Given the description of an element on the screen output the (x, y) to click on. 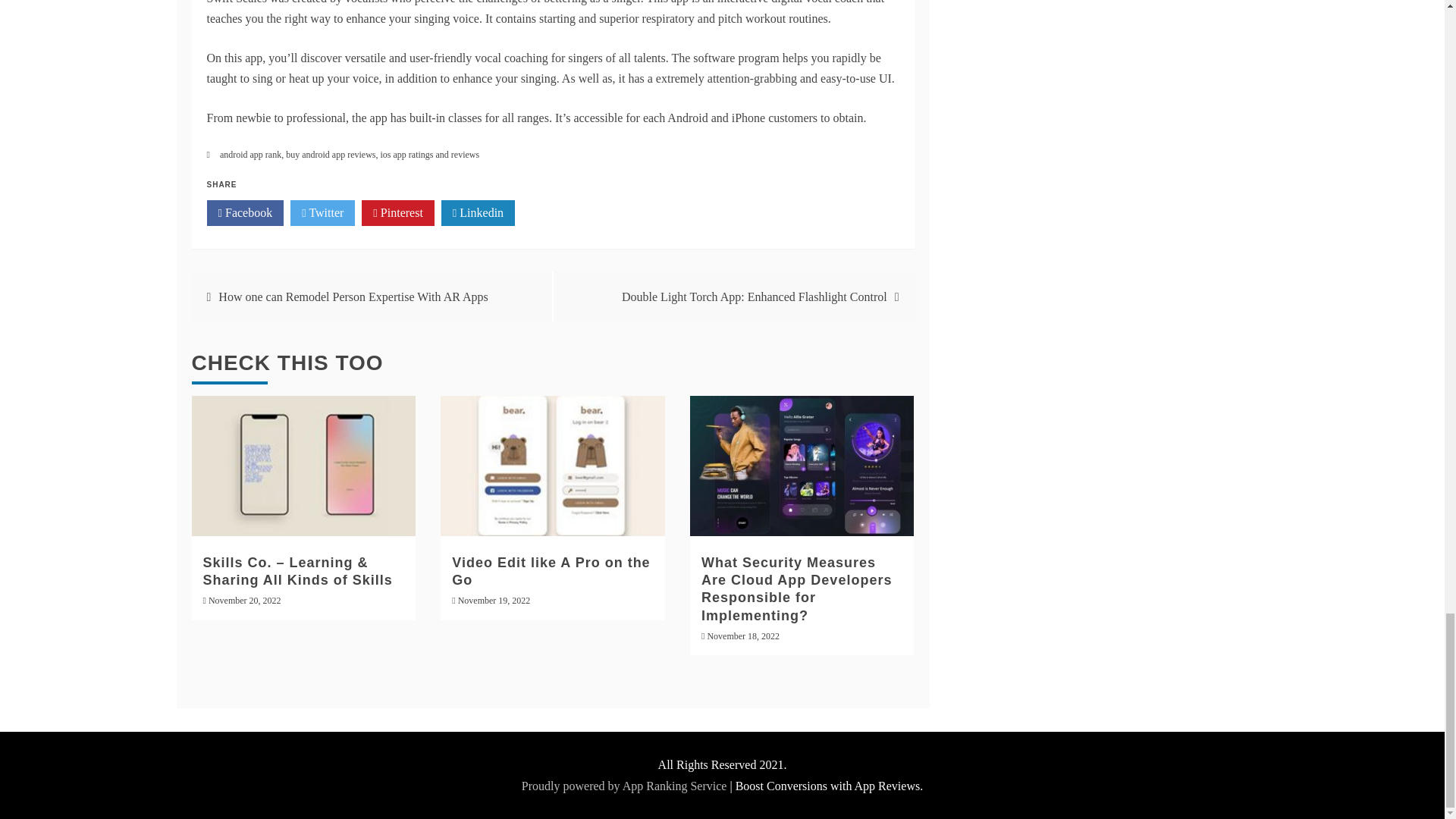
Twitter (322, 212)
Double Light Torch App: Enhanced Flashlight Control (753, 296)
How one can Remodel Person Expertise With AR Apps (352, 296)
November 19, 2022 (494, 600)
Linkedin (478, 212)
buy android app reviews (330, 154)
November 18, 2022 (742, 635)
Pinterest (397, 212)
November 20, 2022 (244, 600)
Facebook (244, 212)
